Given the description of an element on the screen output the (x, y) to click on. 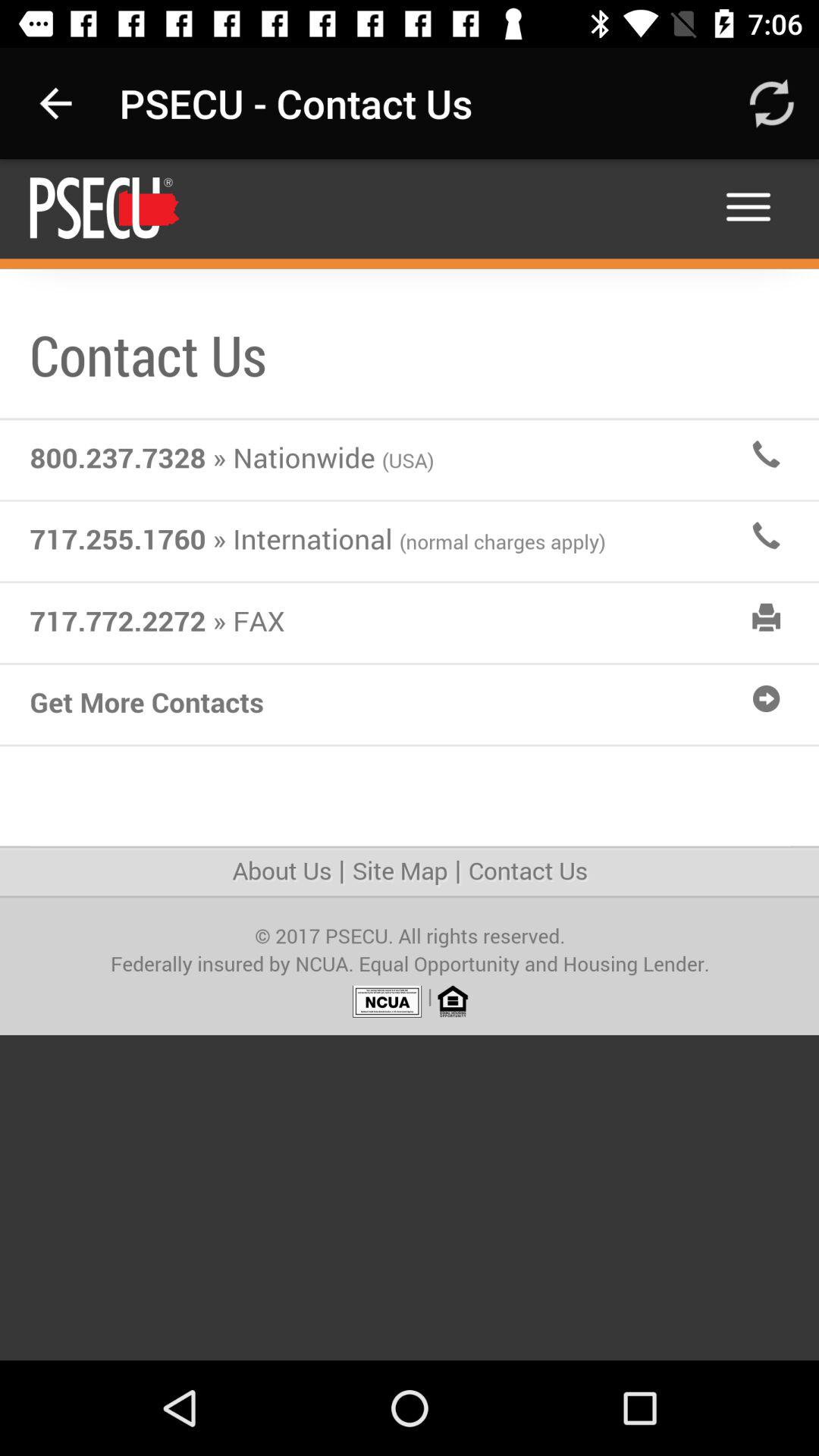
contact info (409, 759)
